Given the description of an element on the screen output the (x, y) to click on. 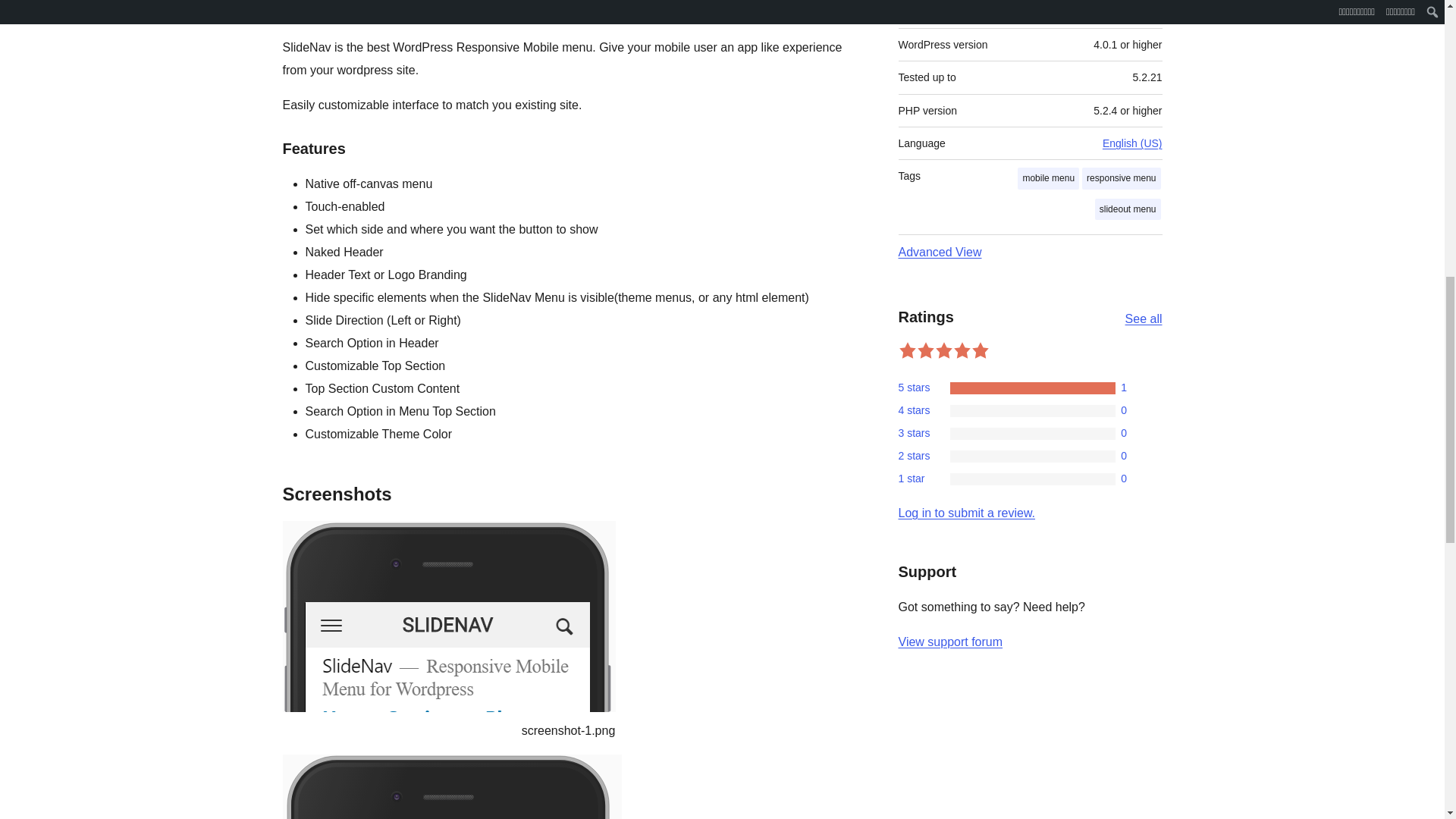
Log in to WordPress.org (966, 512)
